Given the description of an element on the screen output the (x, y) to click on. 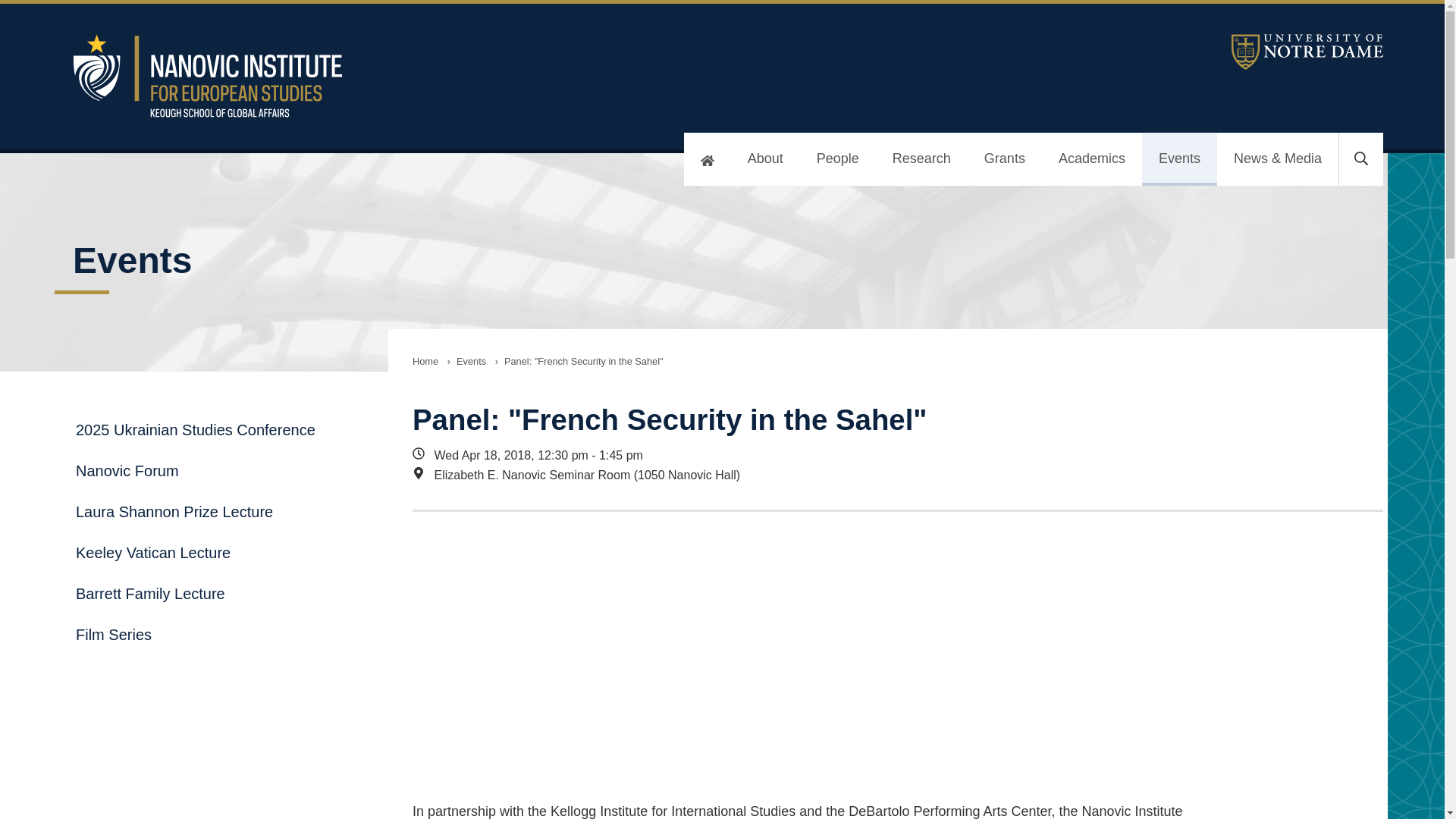
Wed Apr 18, 2018 12:30 pm -  1:45 pm (806, 455)
People (837, 158)
Events (470, 360)
Research (922, 158)
About (764, 158)
Academics (1091, 158)
Home (425, 360)
Nanovic Institute (466, 75)
Grants (1005, 158)
Events (1179, 158)
